Given the description of an element on the screen output the (x, y) to click on. 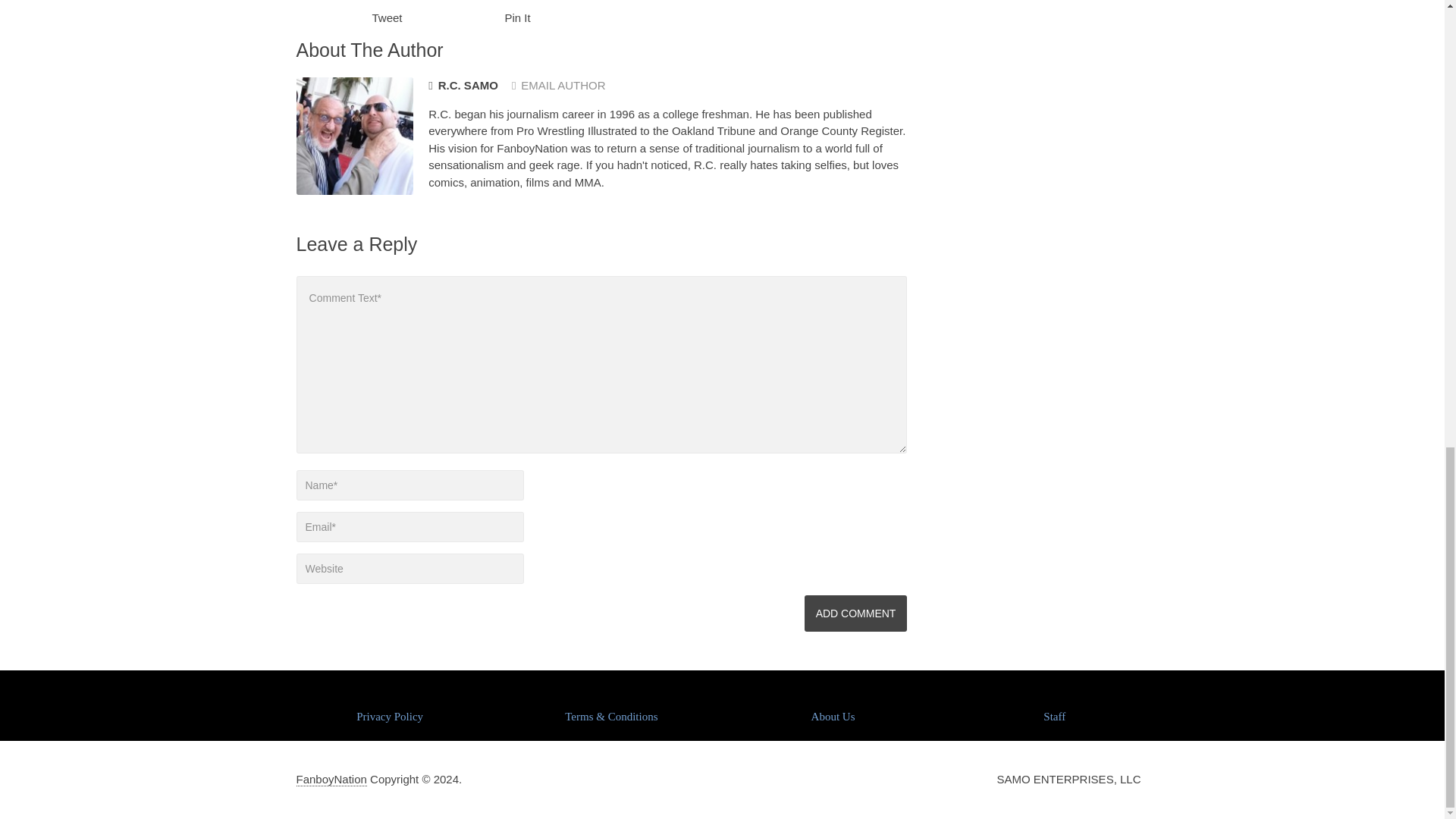
Pin It (518, 17)
Tweet (386, 17)
EMAIL AUTHOR (558, 84)
Add Comment (856, 613)
R.C. SAMO (462, 85)
Add Comment (856, 613)
